Given the description of an element on the screen output the (x, y) to click on. 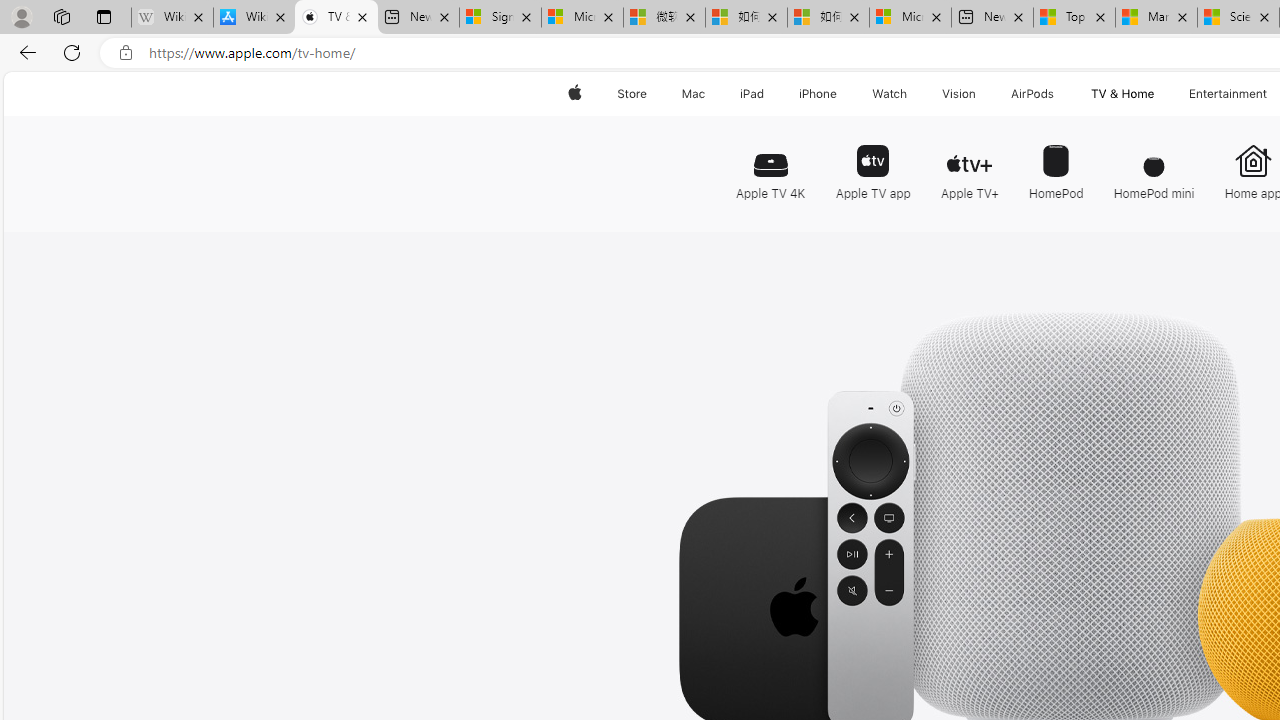
Class: globalnav-submenu-trigger-item (1157, 93)
Mac (692, 93)
Apple TV 4K (775, 162)
Apple TV 4K (770, 164)
Store (631, 93)
Vision (959, 93)
Entertainment (1227, 93)
Apple TV+ (969, 164)
iPad (750, 93)
Apple TV+ (969, 162)
HomePod mini (1154, 164)
TV and Home menu (1157, 93)
